Given the description of an element on the screen output the (x, y) to click on. 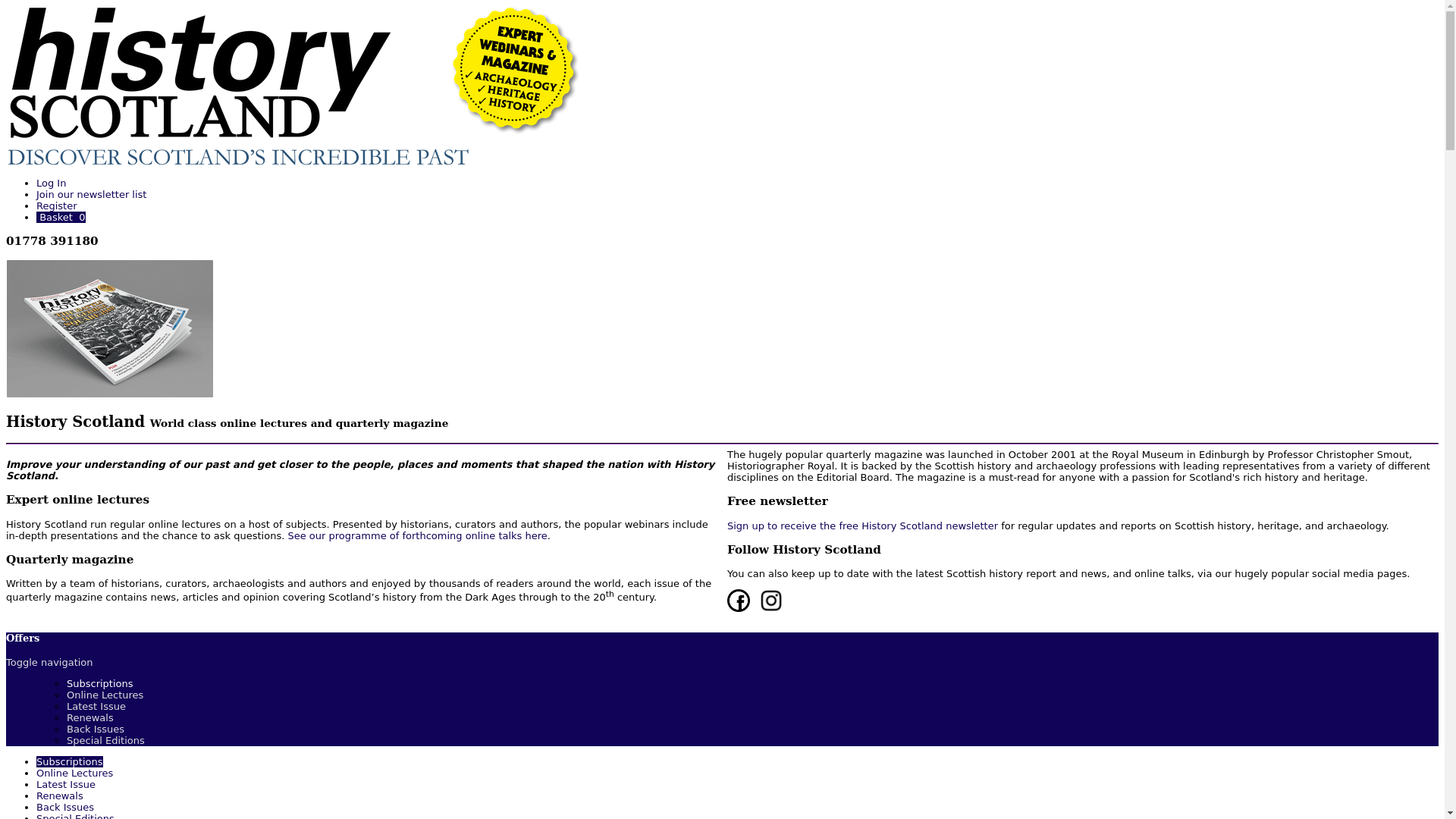
Special Editions (75, 816)
Toggle navigation (49, 662)
 Basket  0 (60, 216)
Join our newsletter list (91, 194)
Online Lectures (104, 695)
Sign up to receive the free History Scotland newsletter (861, 525)
Back Issues (94, 728)
Latest Issue (66, 784)
Renewals (59, 795)
Special Editions (105, 740)
History Scotland Spring Cover (109, 328)
Renewals (89, 717)
Latest Issue (95, 706)
Subscriptions (99, 683)
Register (56, 205)
